Given the description of an element on the screen output the (x, y) to click on. 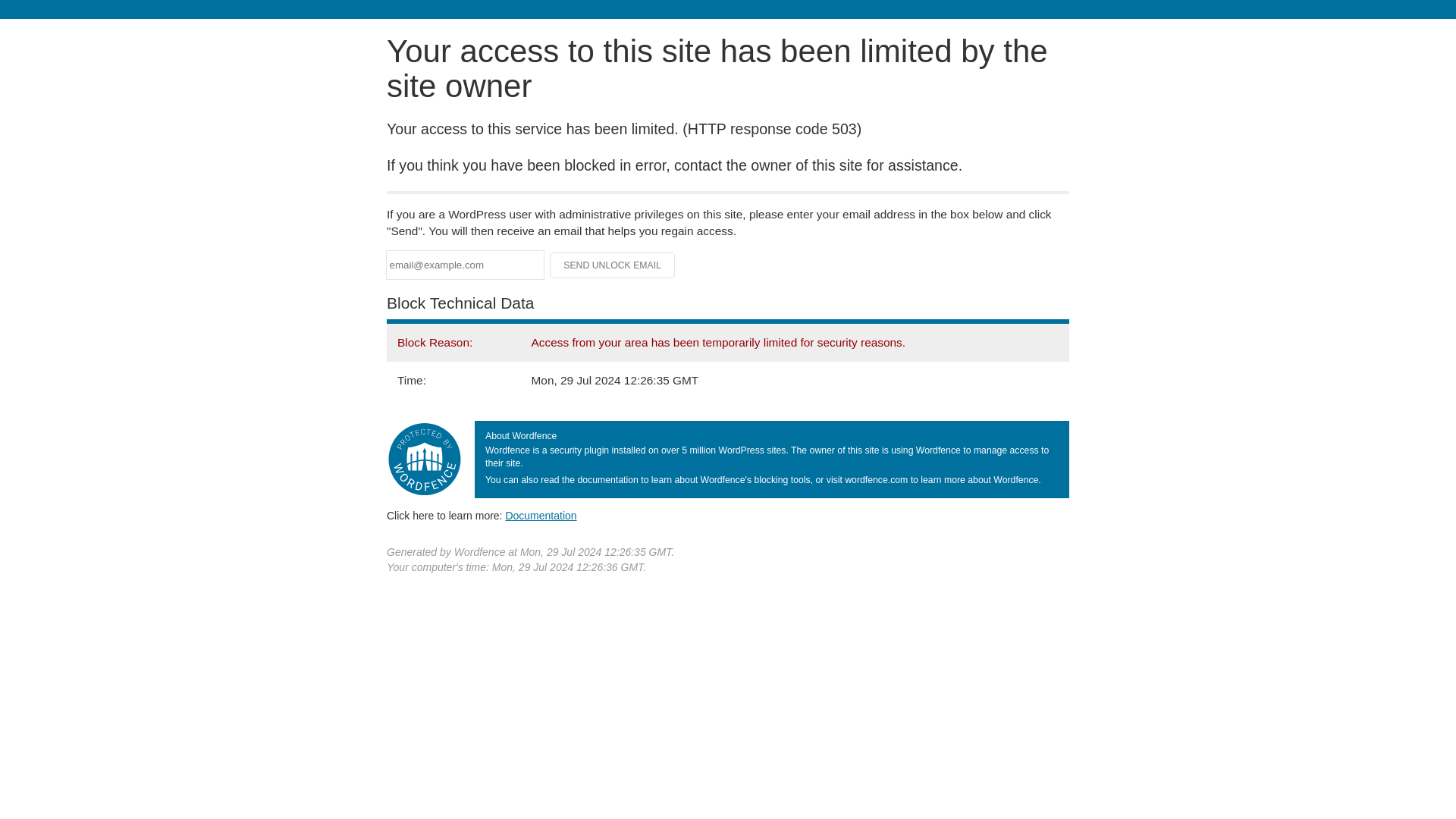
Send Unlock Email (612, 265)
Documentation (540, 515)
Send Unlock Email (612, 265)
